Given the description of an element on the screen output the (x, y) to click on. 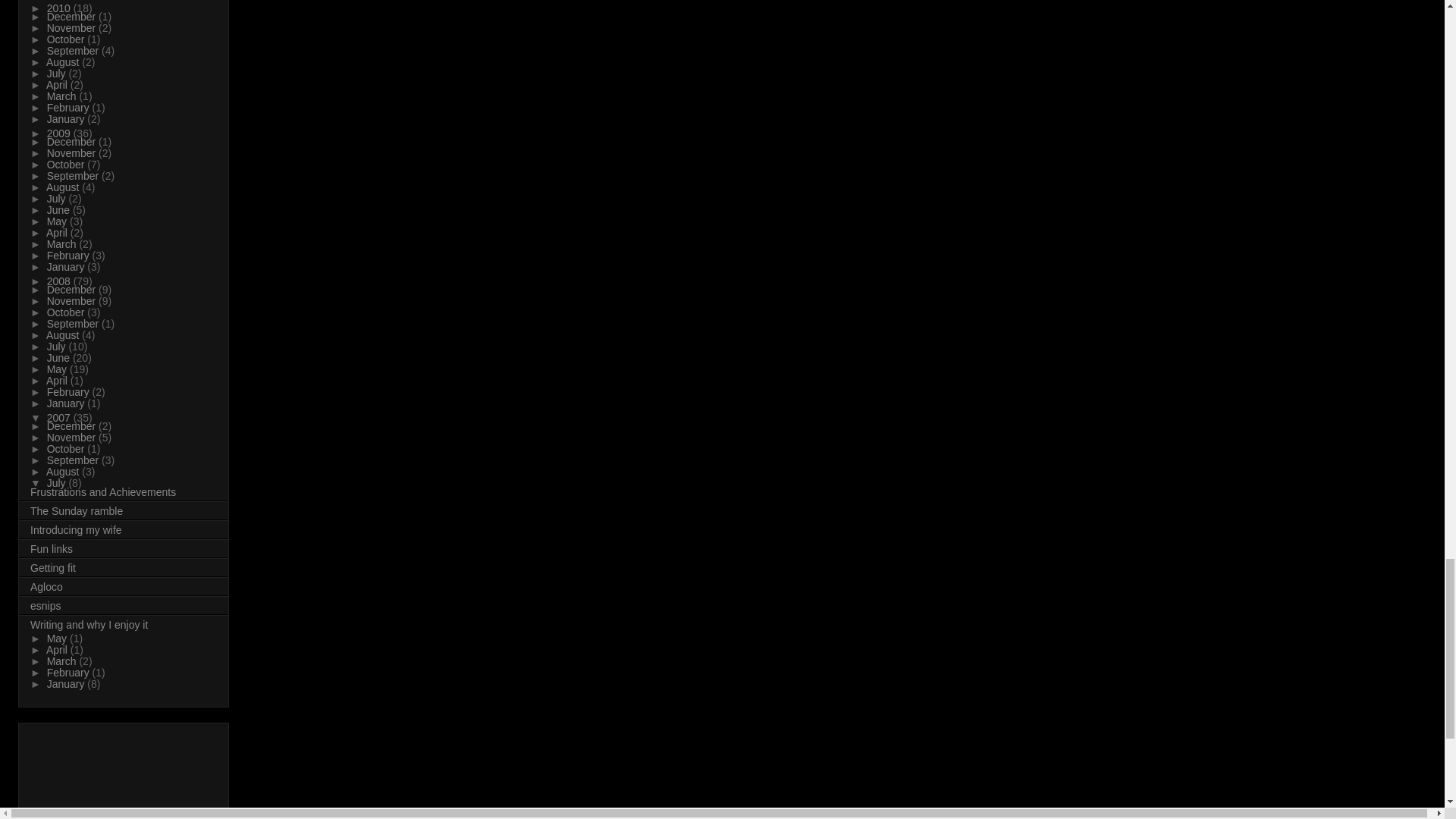
Advertisement (98, 773)
